Given the description of an element on the screen output the (x, y) to click on. 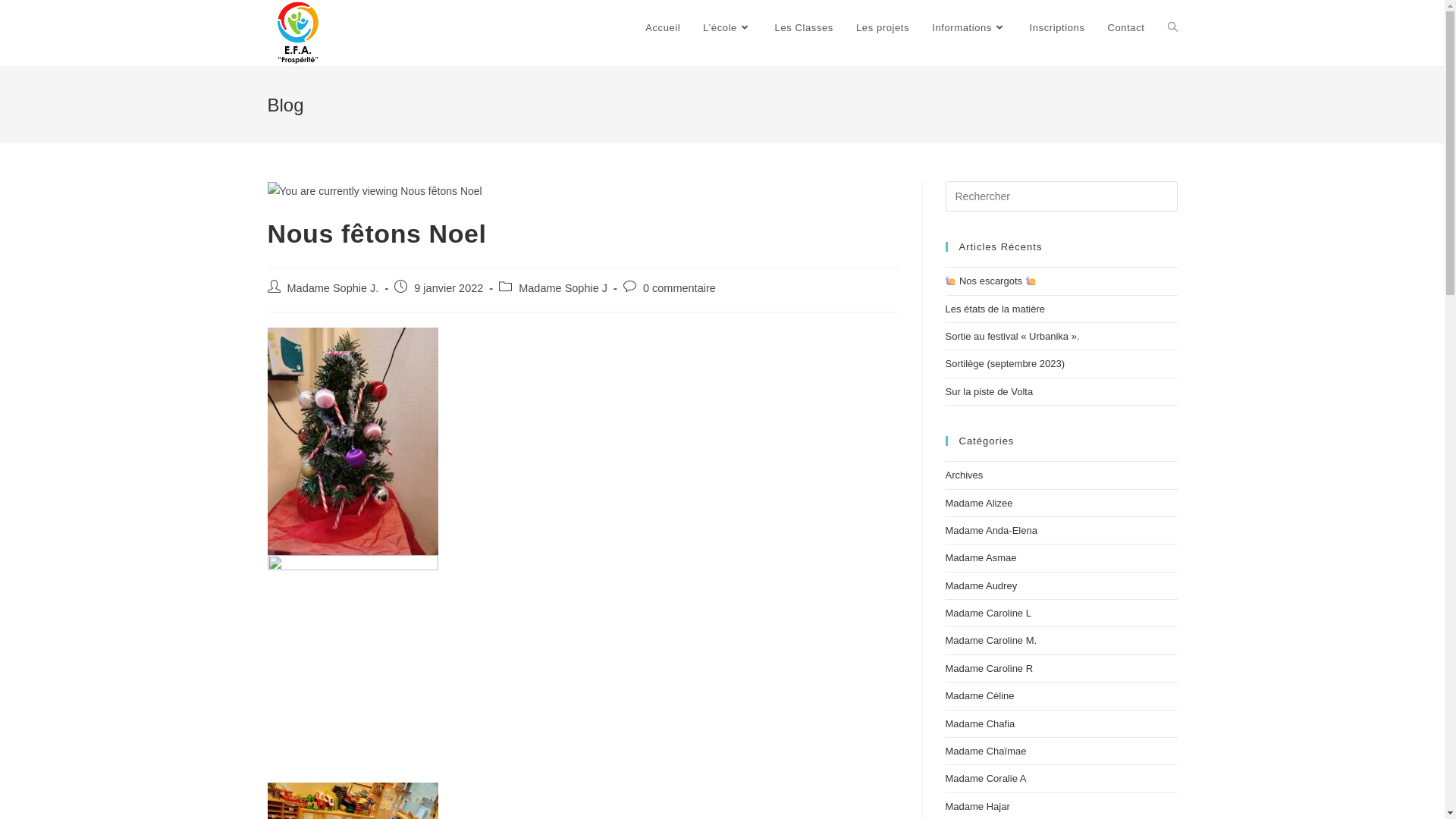
Madame Anda-Elena Element type: text (990, 530)
Les Classes Element type: text (803, 28)
Madame Alizee Element type: text (978, 502)
Madame Hajar Element type: text (976, 806)
Madame Caroline M. Element type: text (990, 640)
Toggle website search Element type: text (1171, 28)
Sur la piste de Volta Element type: text (988, 391)
Informations Element type: text (968, 28)
Madame Coralie A Element type: text (985, 778)
Madame Chafia Element type: text (979, 723)
Madame Sophie J. Element type: text (332, 288)
Madame Caroline R Element type: text (988, 668)
0 commentaire Element type: text (679, 288)
Les projets Element type: text (882, 28)
Madame Sophie J Element type: text (562, 288)
Nos escargots Element type: text (989, 280)
Contact Element type: text (1125, 28)
Archives Element type: text (963, 474)
Accueil Element type: text (662, 28)
Madame Audrey Element type: text (980, 585)
Madame Asmae Element type: text (980, 557)
Inscriptions Element type: text (1057, 28)
Madame Caroline L Element type: text (987, 612)
